Given the description of an element on the screen output the (x, y) to click on. 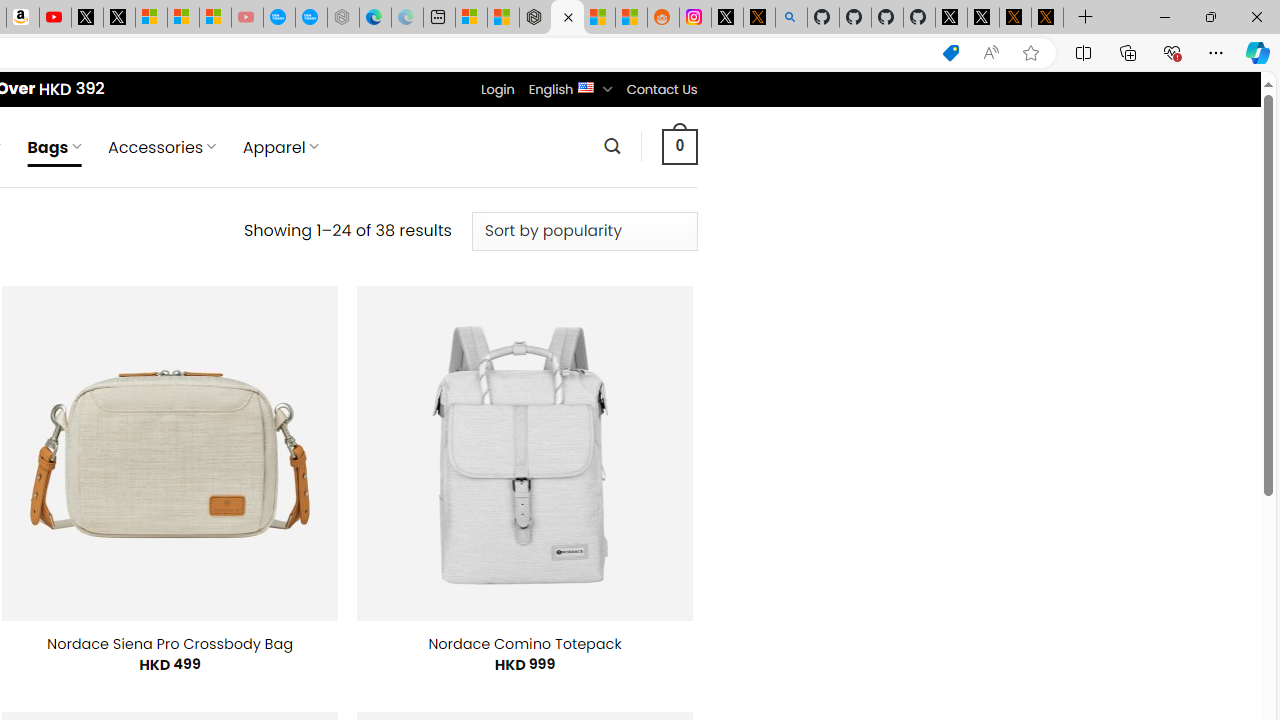
The most popular Google 'how to' searches (310, 17)
Shanghai, China Weather trends | Microsoft Weather (630, 17)
English (586, 86)
Day 1: Arriving in Yemen (surreal to be here) - YouTube (54, 17)
Nordace - Best Sellers (535, 17)
  0   (679, 146)
Login (497, 89)
